Given the description of an element on the screen output the (x, y) to click on. 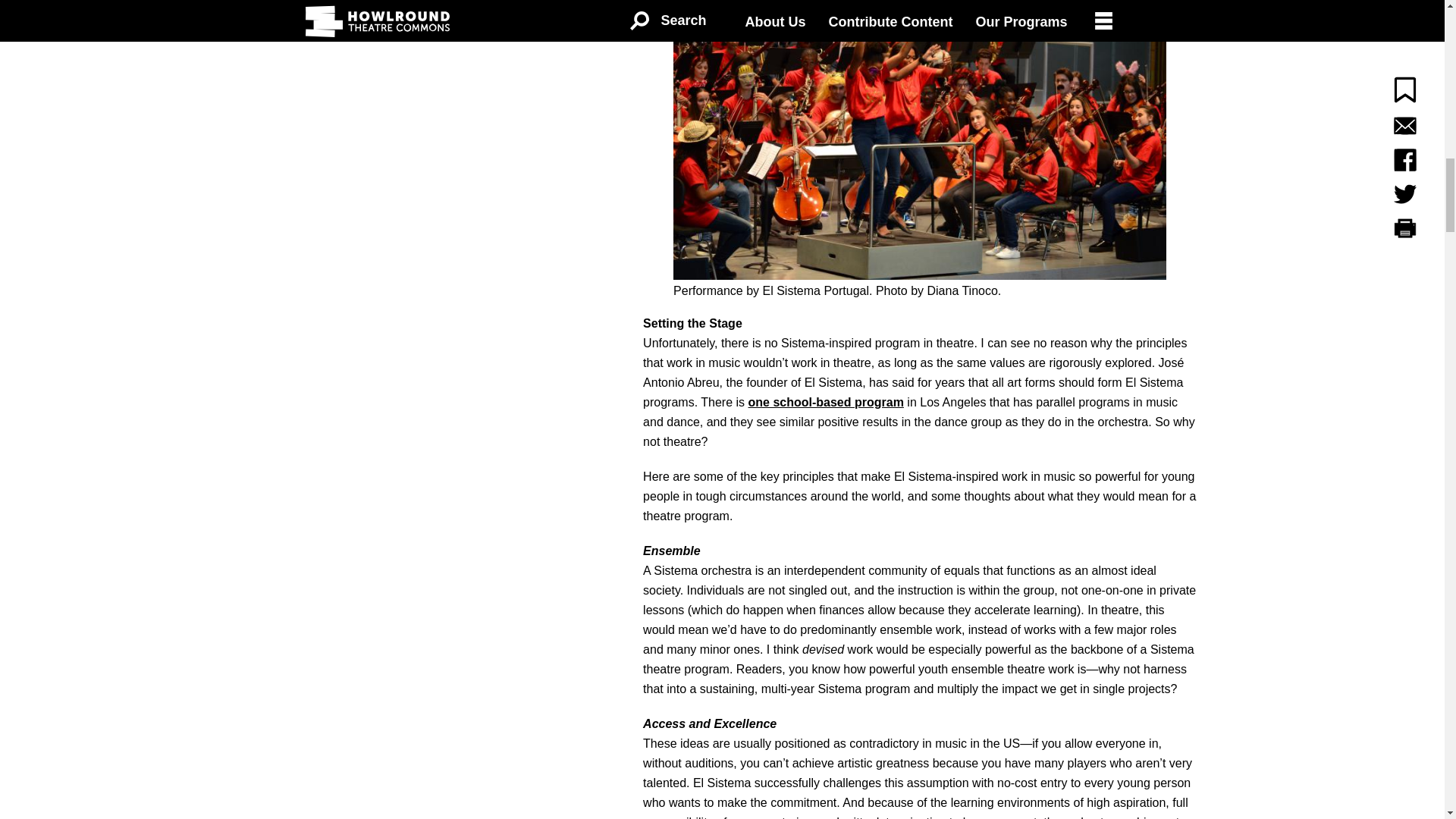
one school-based program (826, 401)
